Given the description of an element on the screen output the (x, y) to click on. 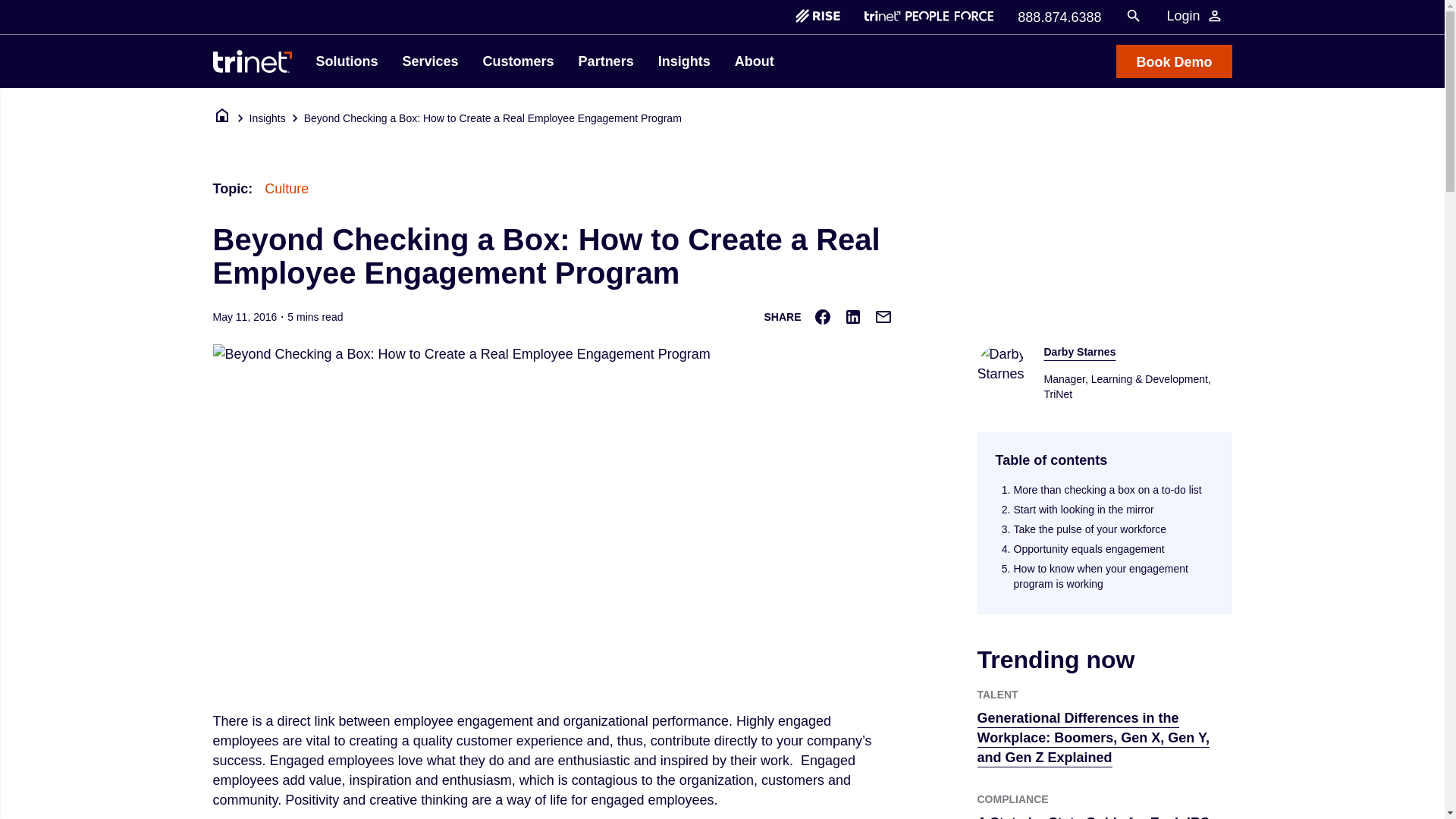
Services (430, 61)
Solutions (346, 61)
Customers (518, 61)
Insights (684, 61)
Insights (266, 118)
888.874.6388 (1059, 15)
About (754, 61)
Share via Email (882, 316)
Book Demo (1173, 61)
Share on LinkedIn (852, 316)
